Given the description of an element on the screen output the (x, y) to click on. 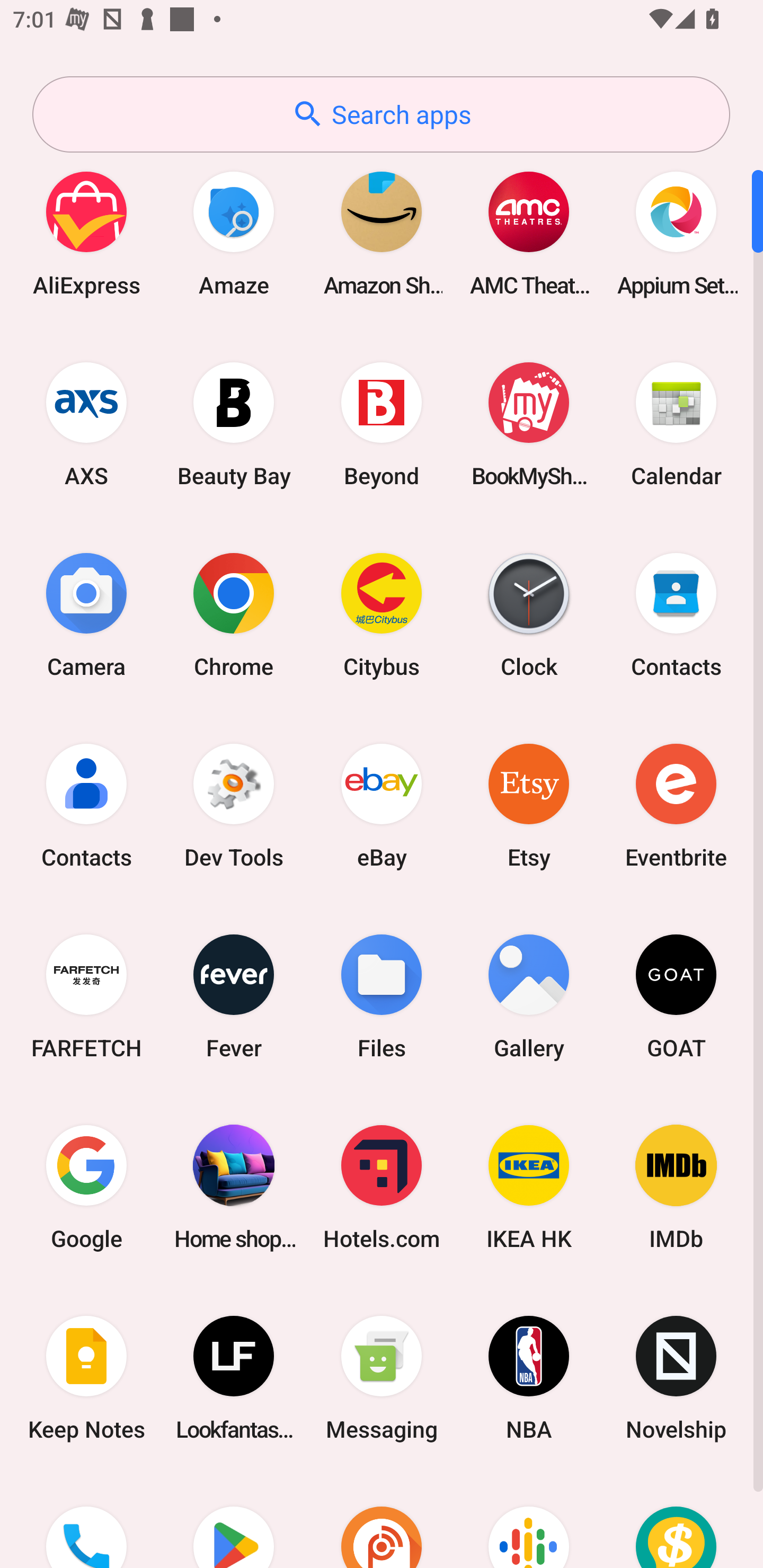
  Search apps (381, 114)
AliExpress (86, 233)
Amaze (233, 233)
Amazon Shopping (381, 233)
AMC Theatres (528, 233)
Appium Settings (676, 233)
AXS (86, 424)
Beauty Bay (233, 424)
Beyond (381, 424)
BookMyShow (528, 424)
Calendar (676, 424)
Camera (86, 614)
Chrome (233, 614)
Citybus (381, 614)
Clock (528, 614)
Contacts (676, 614)
Contacts (86, 805)
Dev Tools (233, 805)
eBay (381, 805)
Etsy (528, 805)
Eventbrite (676, 805)
FARFETCH (86, 996)
Fever (233, 996)
Files (381, 996)
Gallery (528, 996)
GOAT (676, 996)
Google (86, 1186)
Home shopping (233, 1186)
Hotels.com (381, 1186)
IKEA HK (528, 1186)
IMDb (676, 1186)
Keep Notes (86, 1377)
Lookfantastic (233, 1377)
Messaging (381, 1377)
NBA (528, 1377)
Novelship (676, 1377)
Phone (86, 1520)
Play Store (233, 1520)
Podcast Addict (381, 1520)
Podcasts (528, 1520)
Price (676, 1520)
